Given the description of an element on the screen output the (x, y) to click on. 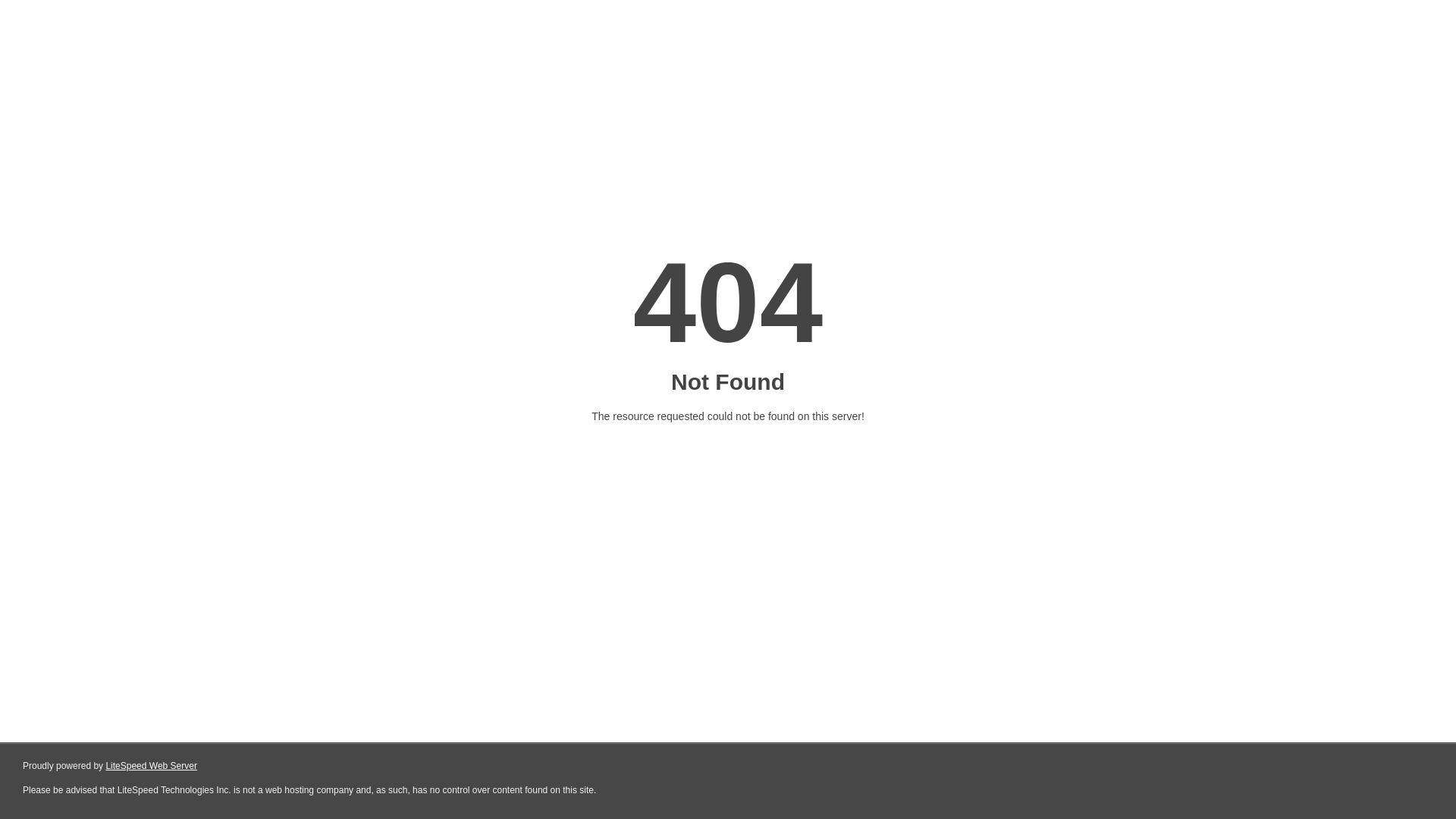
LiteSpeed Web Server Element type: text (151, 765)
